Given the description of an element on the screen output the (x, y) to click on. 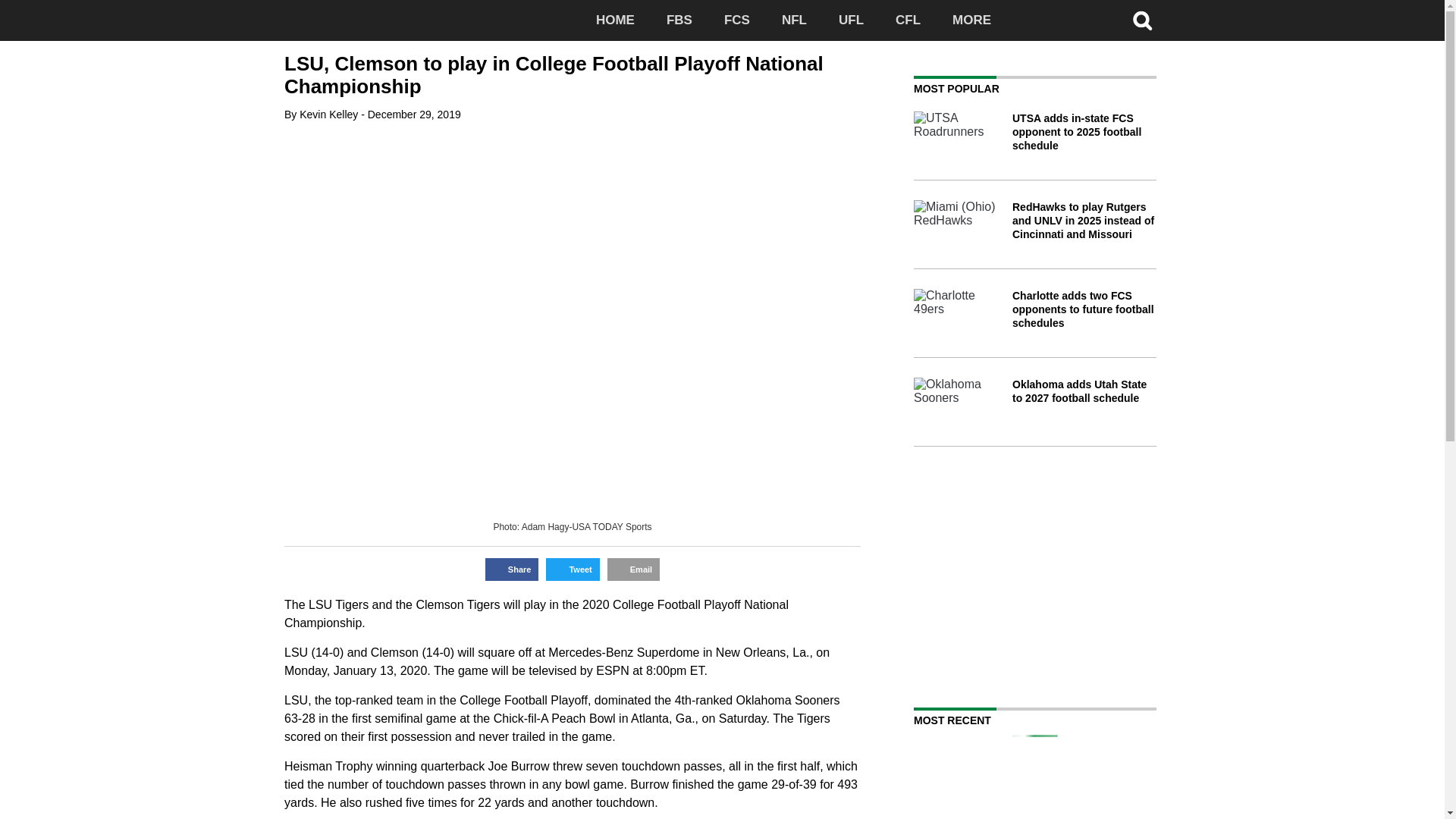
HOME (614, 20)
FBS (678, 20)
